Given the description of an element on the screen output the (x, y) to click on. 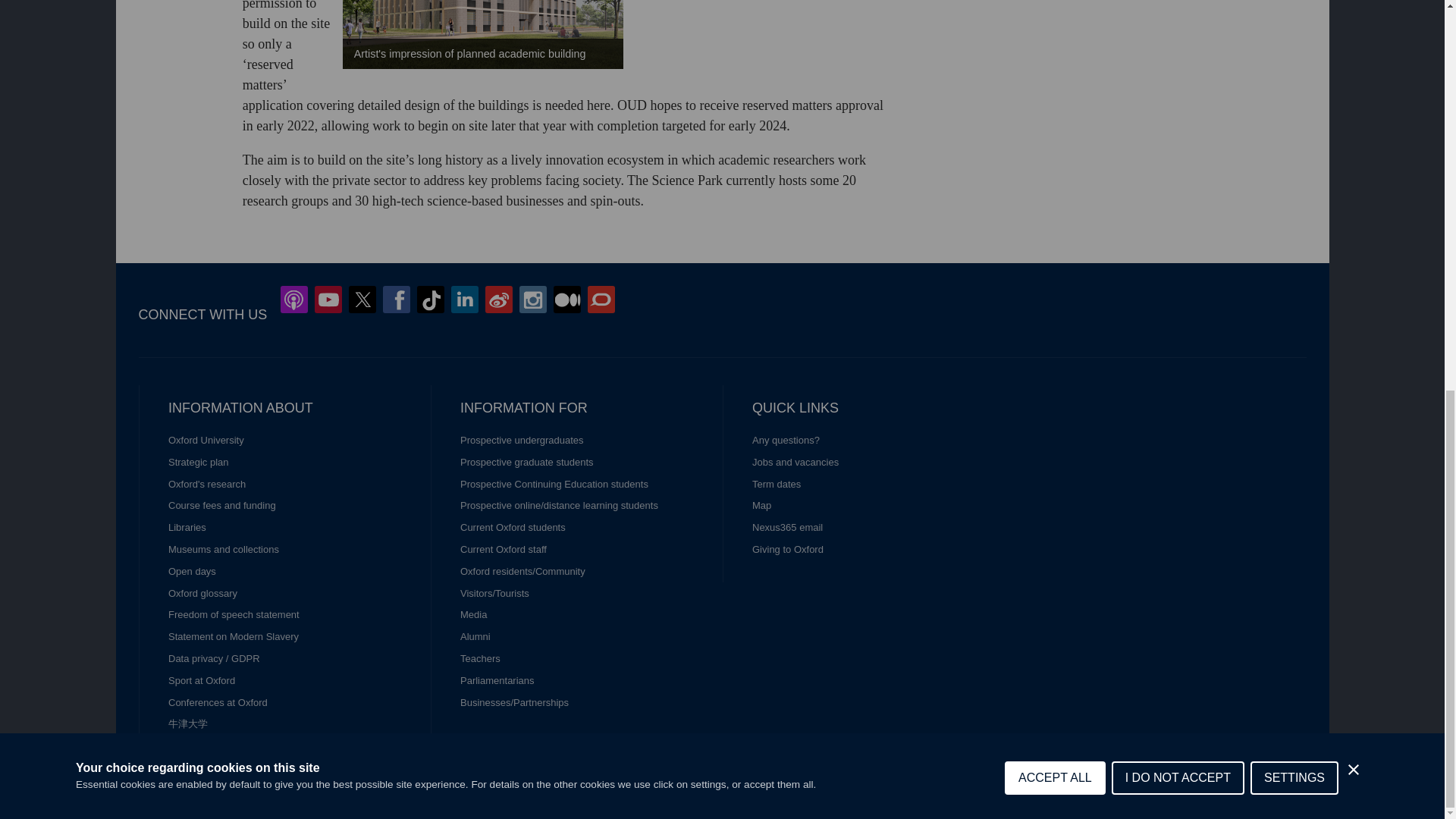
Begbroke Science Park Phase 1 academic building (482, 34)
SETTINGS (1294, 52)
I DO NOT ACCEPT (1178, 62)
ACCEPT ALL (1054, 75)
